Given the description of an element on the screen output the (x, y) to click on. 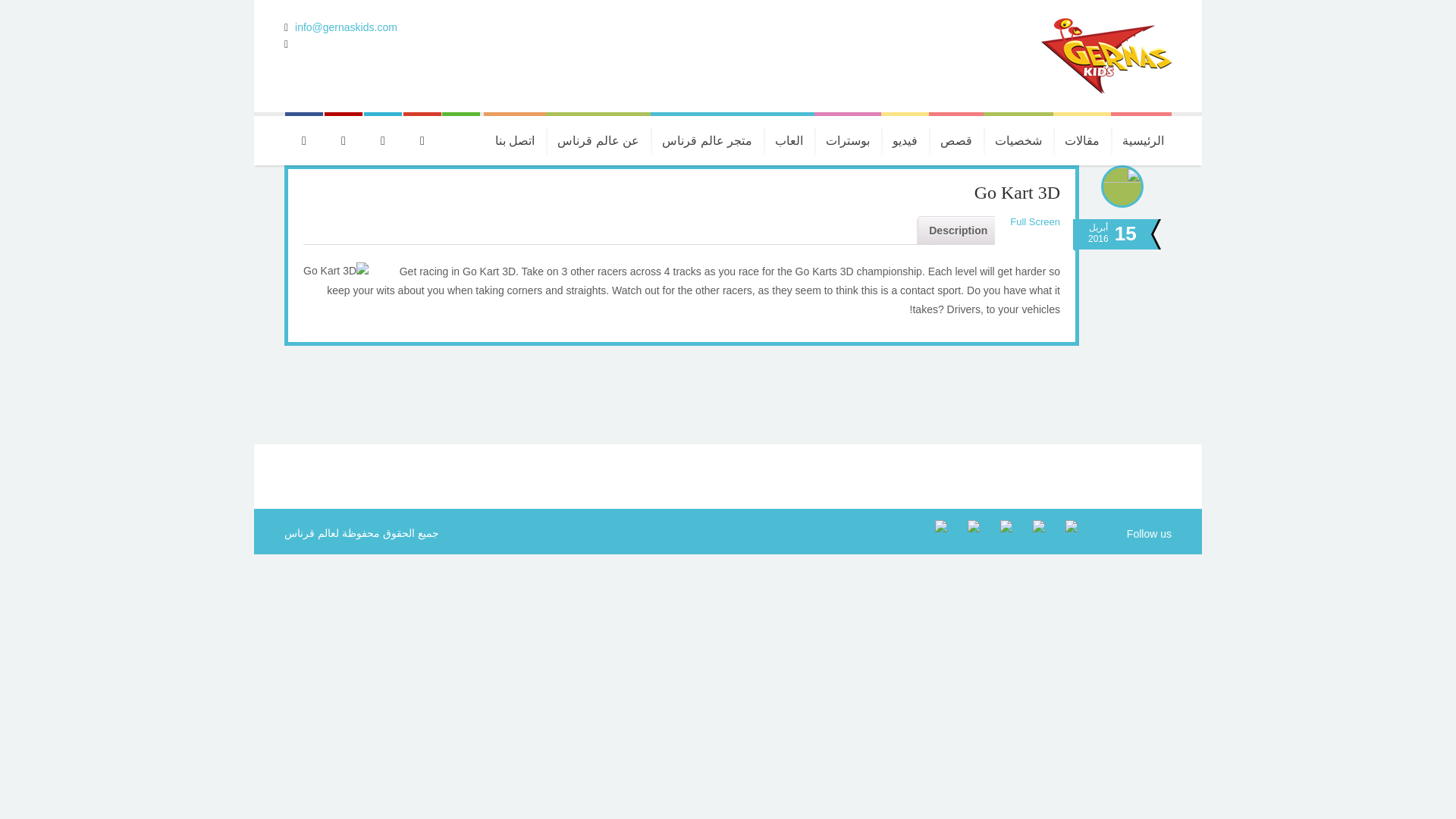
Go Kart 3D (1016, 192)
Facebook (1064, 533)
Full Screen (1026, 222)
Google Plus (966, 533)
Description (957, 230)
Gernas Kids (1106, 56)
Youtube (1031, 533)
Twitter (998, 533)
Technorati (933, 533)
Go Kart 3D (1016, 192)
